Given the description of an element on the screen output the (x, y) to click on. 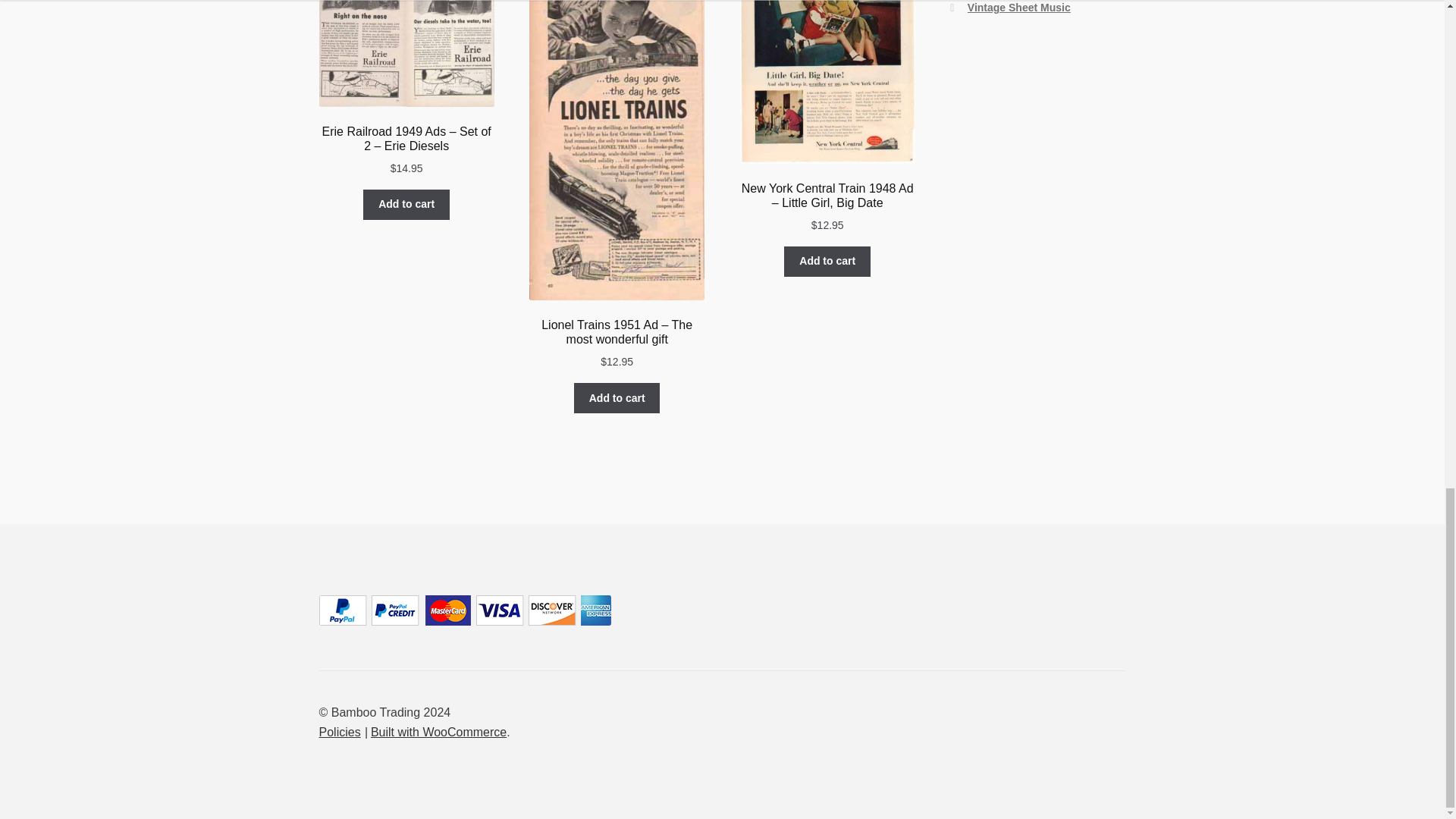
Add to cart (405, 204)
WooCommerce - The Best eCommerce Platform for WordPress (438, 731)
Add to cart (827, 261)
Add to cart (617, 398)
